Given the description of an element on the screen output the (x, y) to click on. 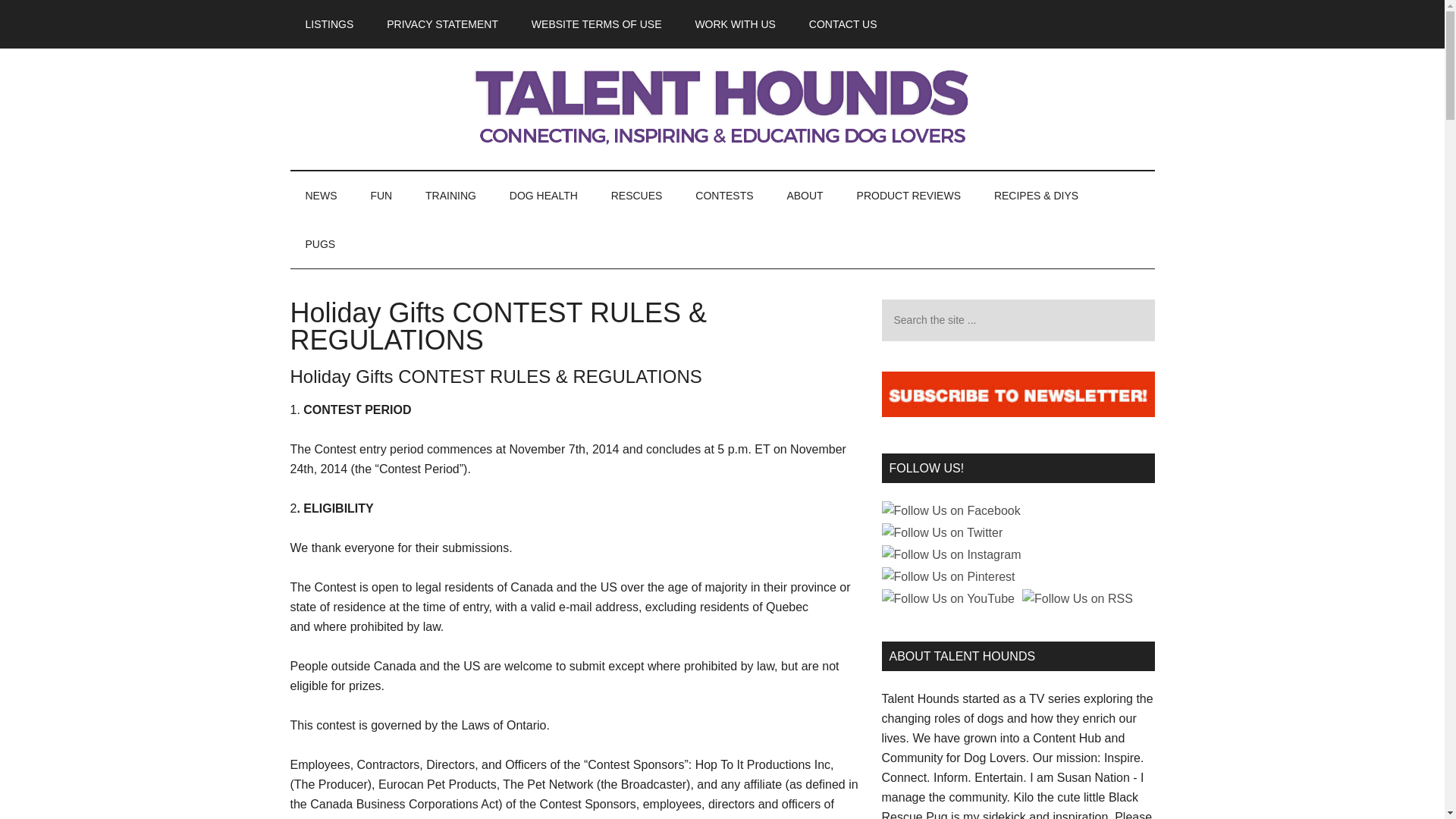
Follow Us on RSS (1077, 598)
PRIVACY STATEMENT (442, 24)
WEBSITE TERMS OF USE (596, 24)
Follow Us on Pinterest (947, 577)
TRAINING (451, 195)
Join Talent Hounds Now! (721, 159)
Facebook (950, 510)
Follow Us on YouTube (947, 598)
WORK WITH US (734, 24)
CONTACT US (842, 24)
LISTINGS (328, 24)
Follow Us on Instagram (950, 555)
